Given the description of an element on the screen output the (x, y) to click on. 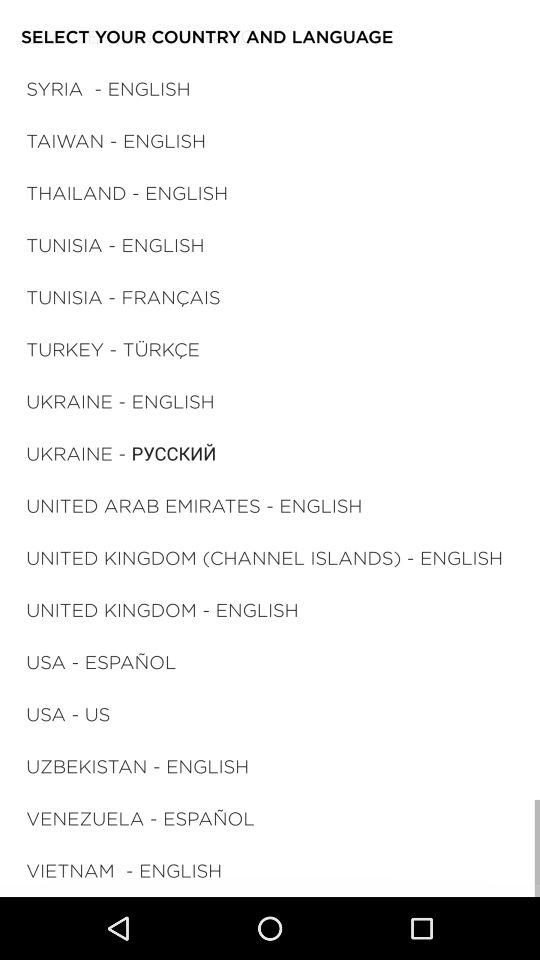
turn on taiwan - english item (115, 140)
